Given the description of an element on the screen output the (x, y) to click on. 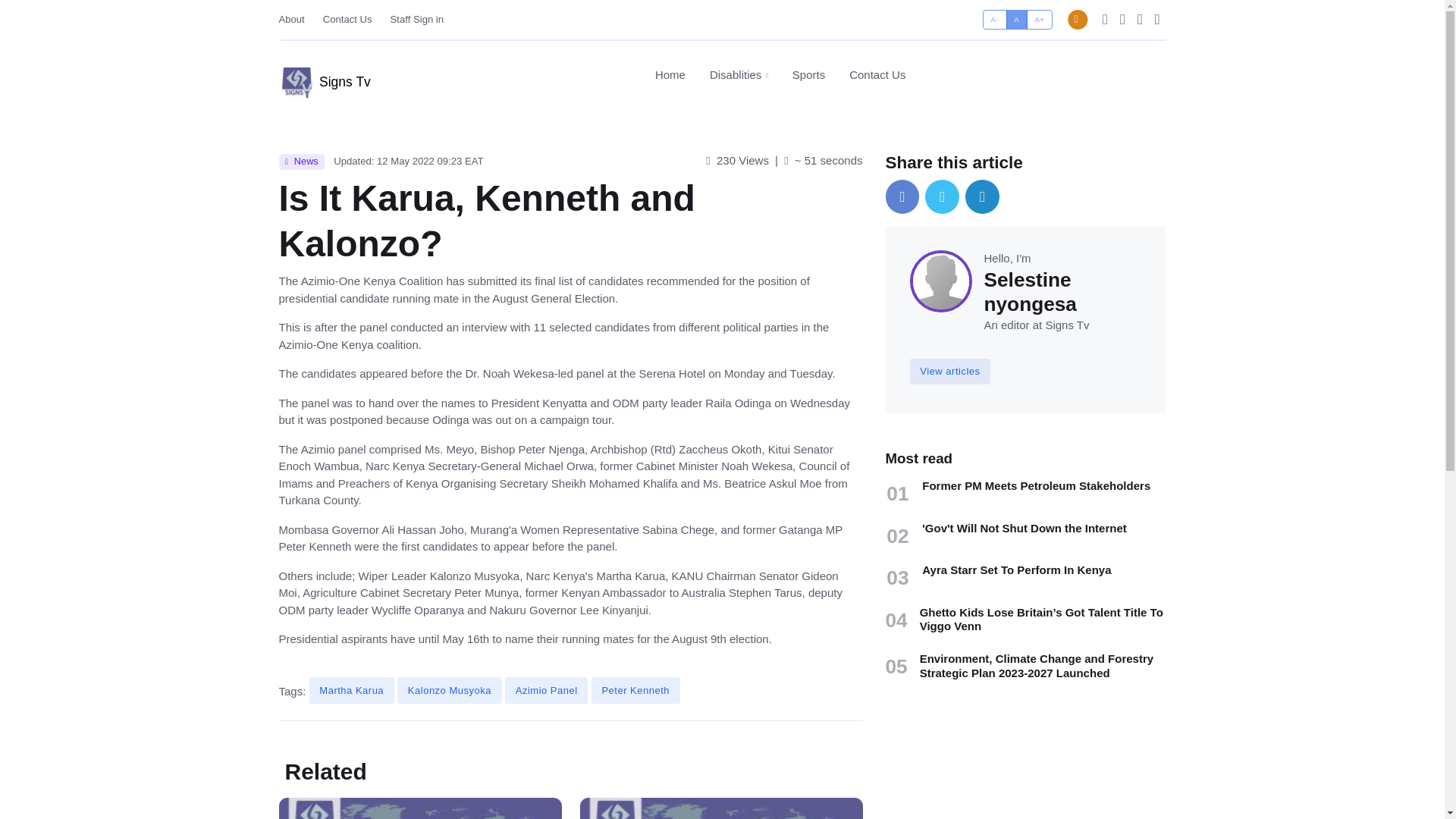
Azimio Panel (546, 689)
Signs Tv (325, 75)
Disablities (738, 74)
Martha Karua (351, 689)
Staff Sign in (416, 19)
Contact Us (347, 19)
on (987, 14)
on (987, 14)
Peter Kenneth (635, 689)
Kalonzo Musyoka (449, 689)
News (301, 161)
Contact Us (871, 74)
on (774, 74)
About (987, 14)
